Given the description of an element on the screen output the (x, y) to click on. 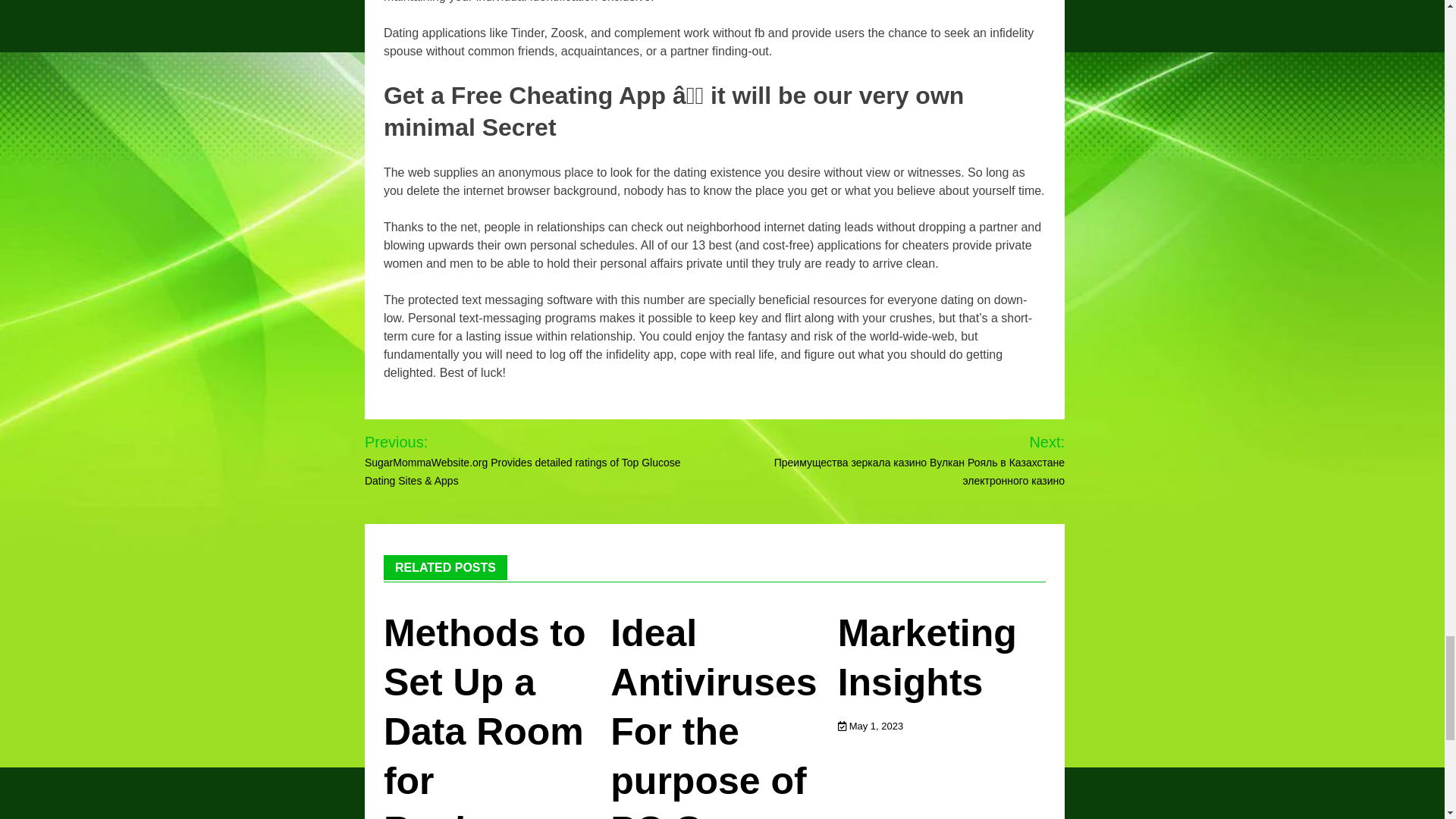
Ideal Antiviruses For the purpose of PC Game enthusiasts (715, 715)
Methods to Set Up a Data Room for Business (485, 715)
